Given the description of an element on the screen output the (x, y) to click on. 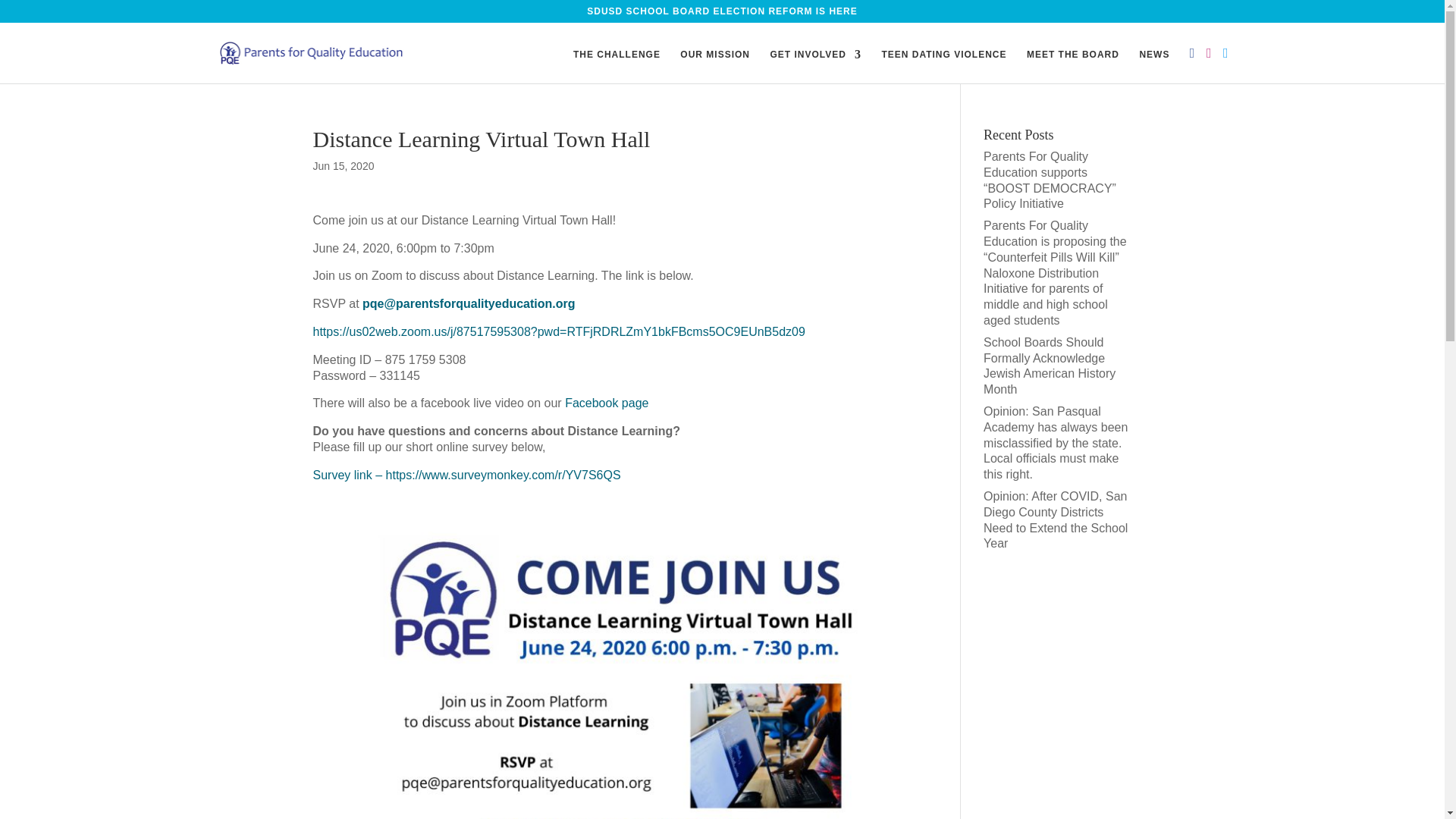
TEEN DATING VIOLENCE (943, 66)
OUR MISSION (714, 66)
SDUSD SCHOOL BOARD ELECTION REFORM IS HERE (721, 14)
MEET THE BOARD (1072, 66)
THE CHALLENGE (617, 66)
Facebook page (605, 402)
GET INVOLVED (815, 66)
